Given the description of an element on the screen output the (x, y) to click on. 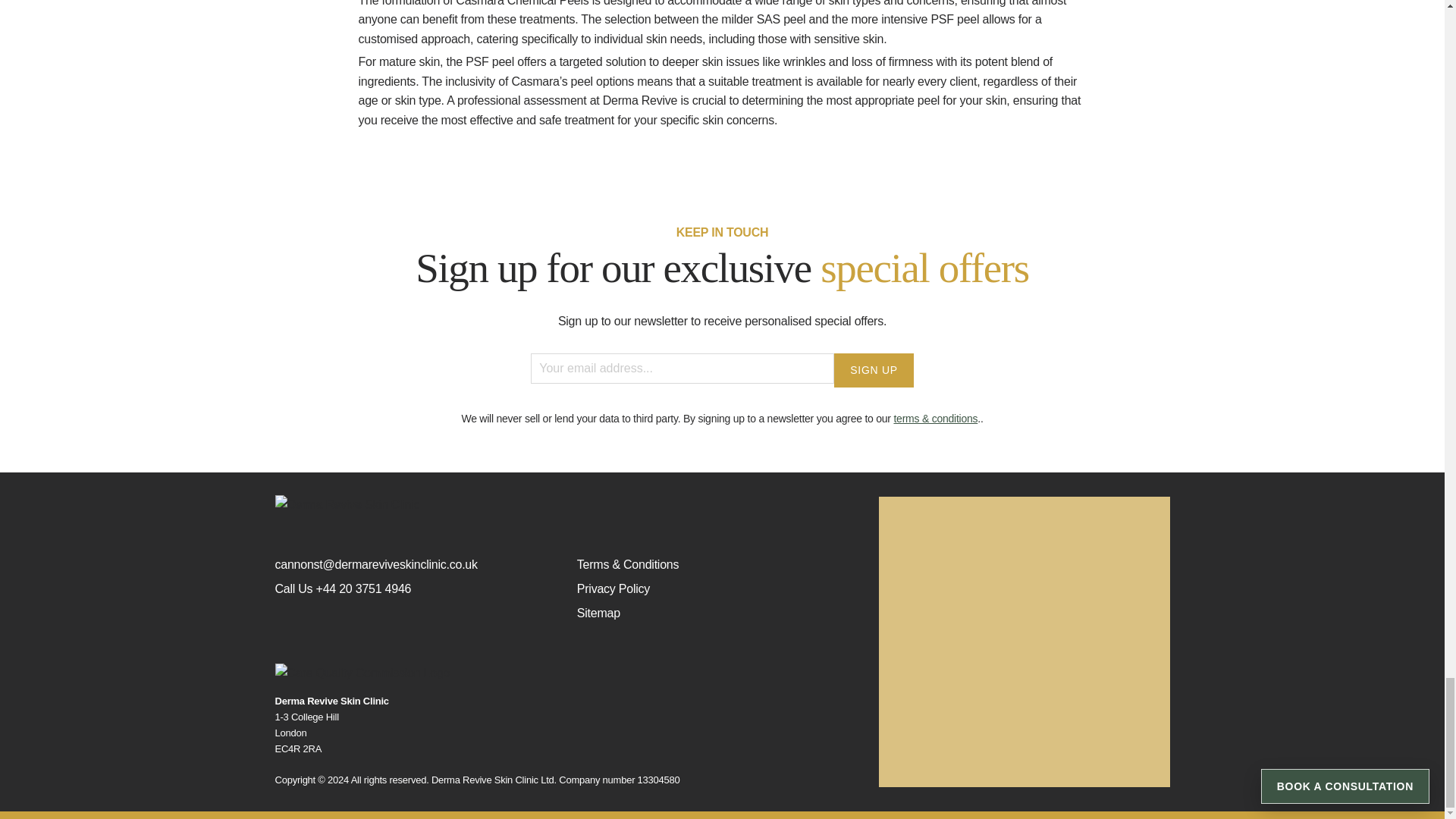
Sign Up (873, 369)
Registered with Care Quality Commission (565, 673)
